Given the description of an element on the screen output the (x, y) to click on. 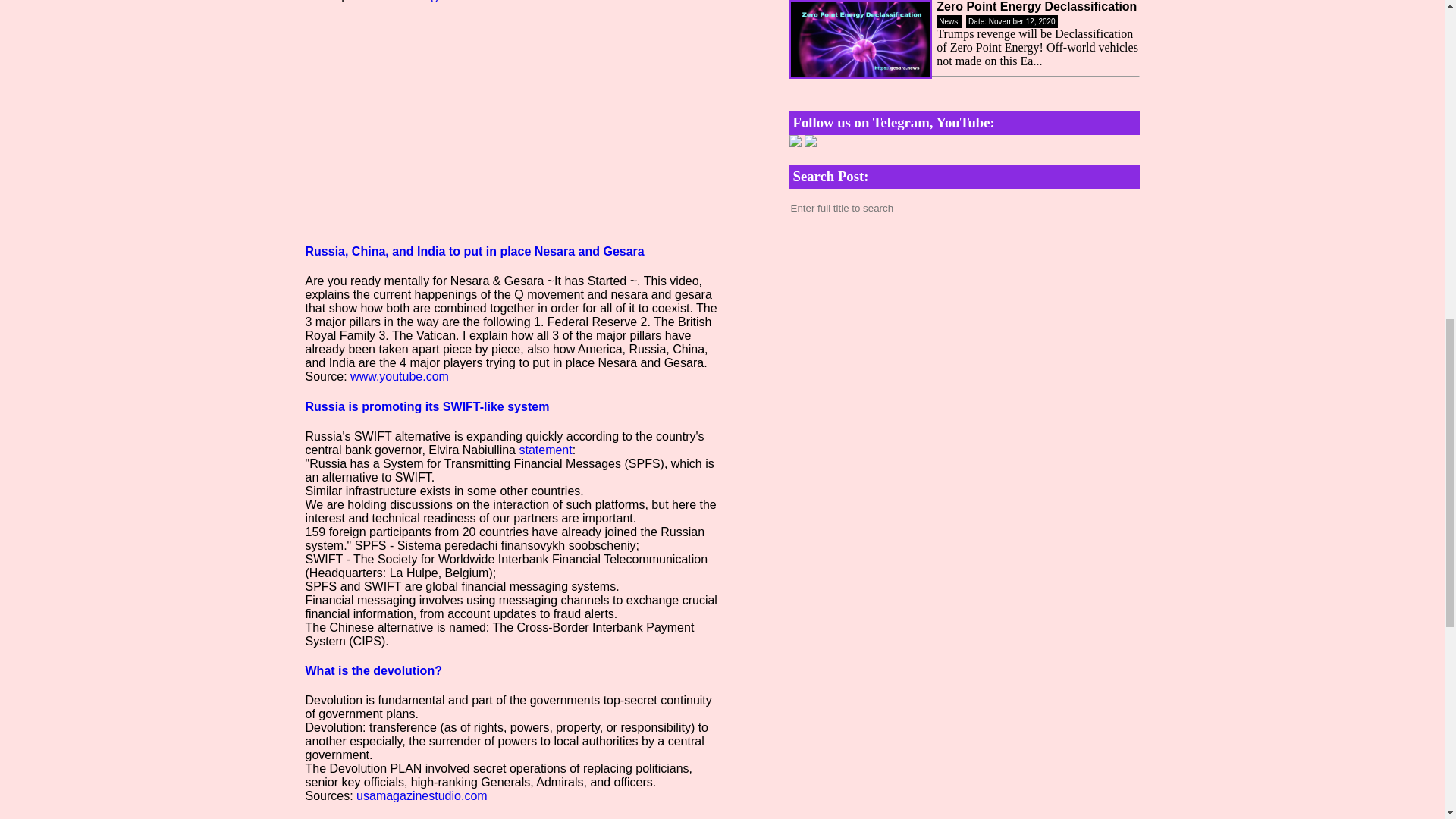
www.state.gov (410, 1)
statement (545, 449)
Russia is promoting its SWIFT-like system (426, 406)
usamagazinestudio.com (421, 795)
Russia, China, and India to put in place Nesara and Gesara (473, 250)
What is the devolution? (372, 670)
www.youtube.com (399, 376)
